Given the description of an element on the screen output the (x, y) to click on. 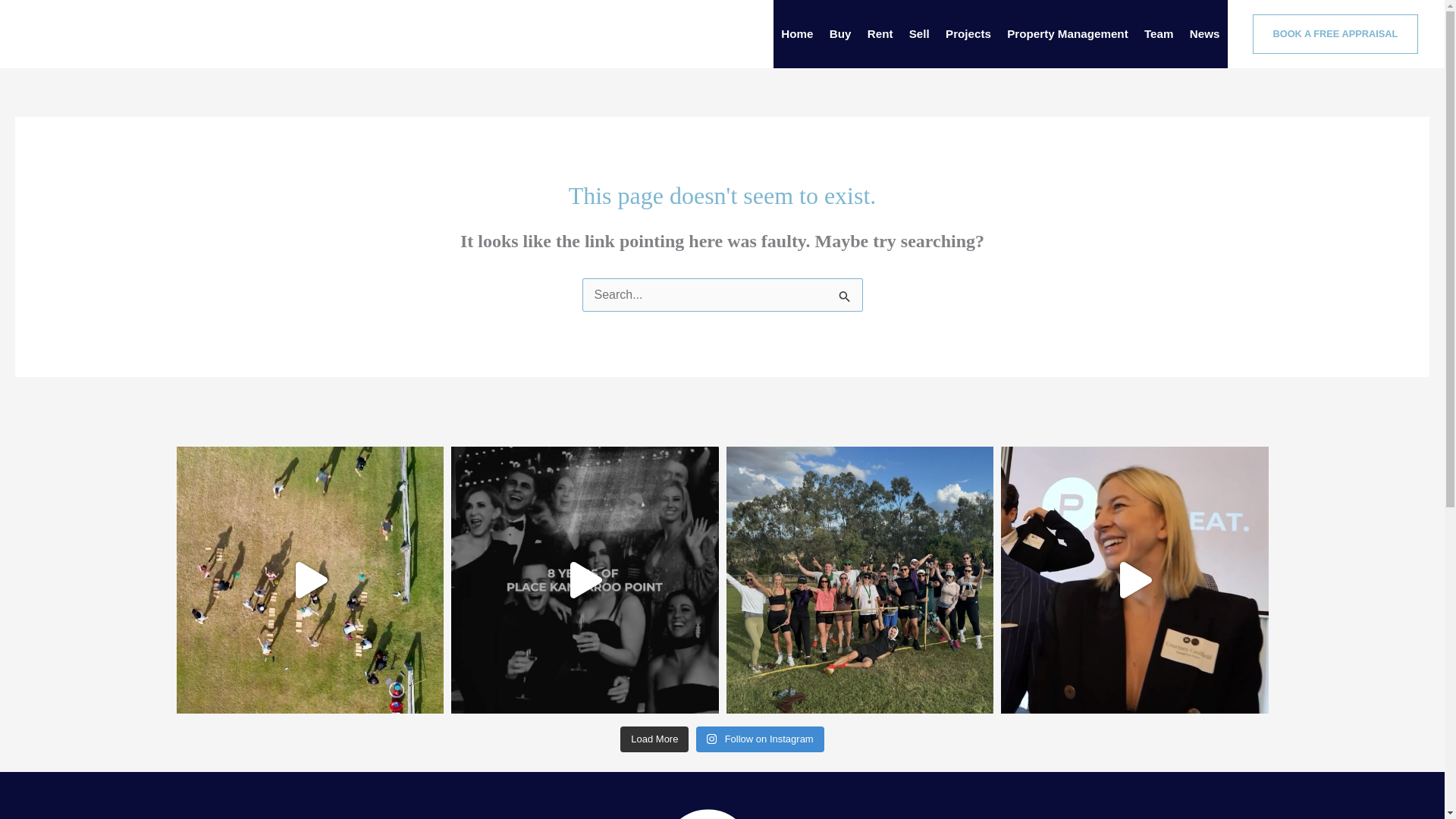
BOOK A FREE APPRAISAL (1330, 33)
Projects (967, 33)
Property Management (1067, 33)
Follow on Instagram (759, 739)
Load More (654, 739)
